Given the description of an element on the screen output the (x, y) to click on. 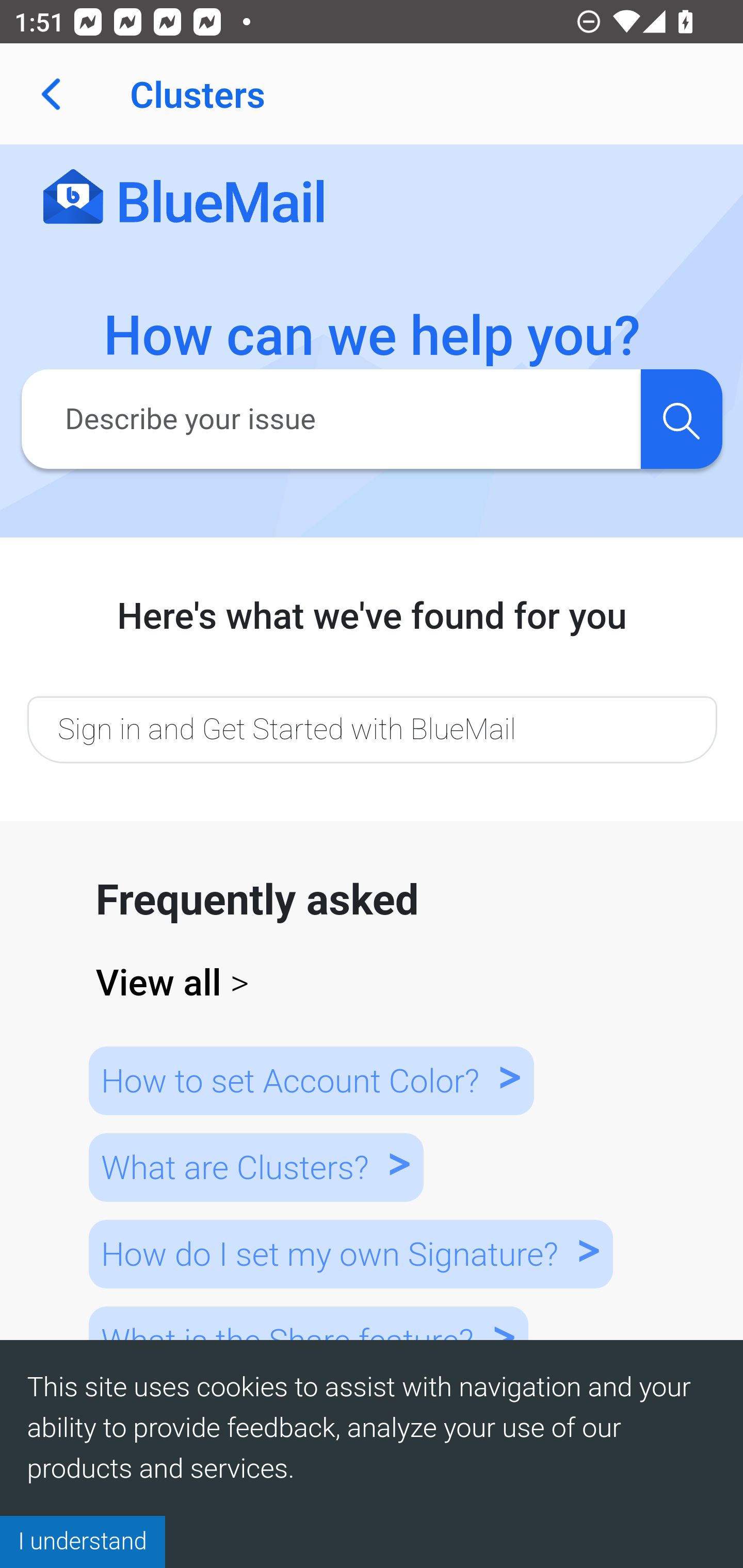
Navigate up (50, 93)
BlueMail Logo (184, 197)
How can we help you? (372, 336)
search (680, 418)
Sign in and Get Started with BlueMail (371, 728)
View all> (372, 982)
How to set Account Color?> (310, 1080)
What are Clusters?> (255, 1166)
How do I set my own Signature?> (349, 1253)
Accept cookies (83, 1541)
